Given the description of an element on the screen output the (x, y) to click on. 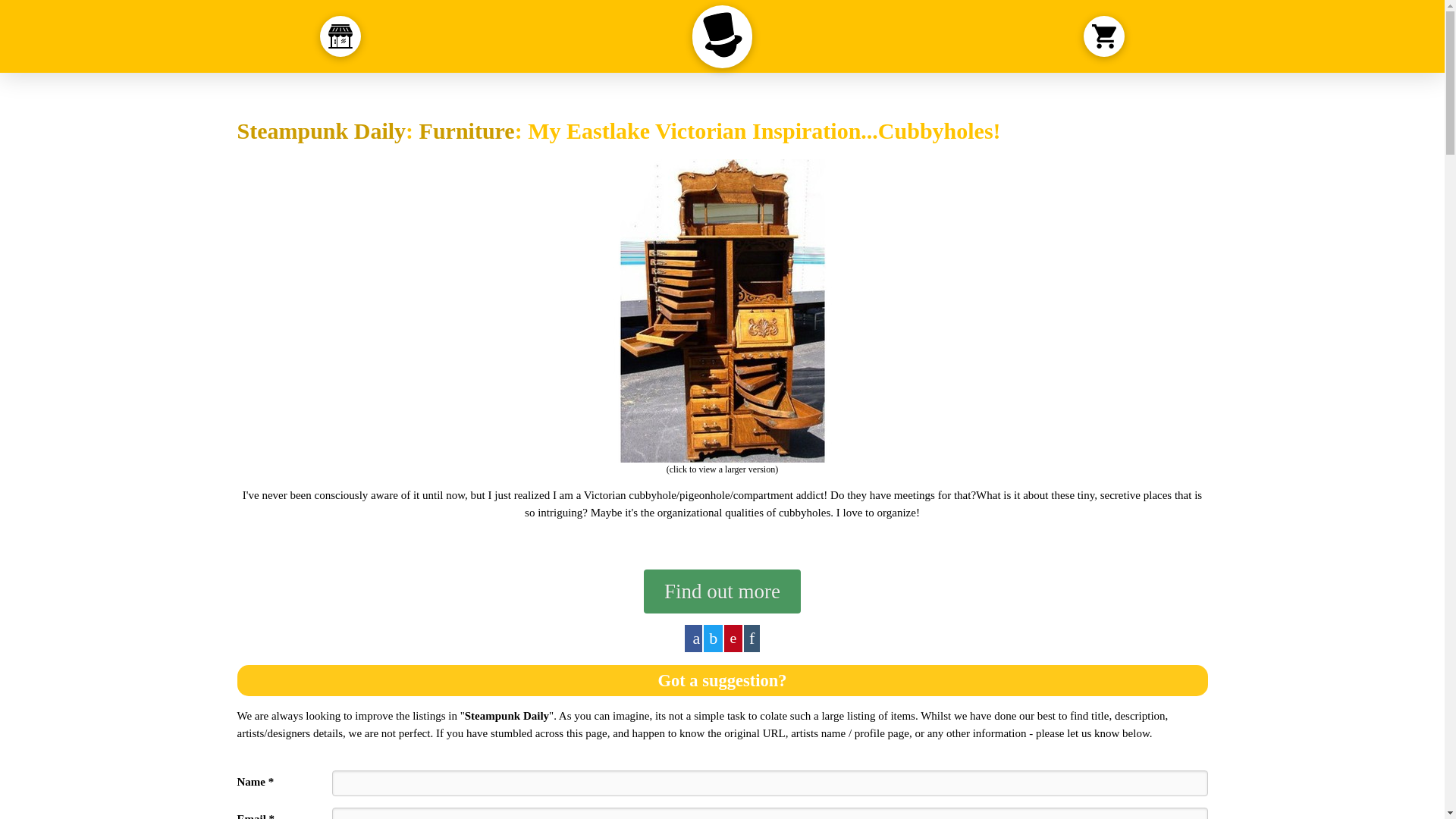
Steampunk Daily (320, 130)
Find out more (721, 591)
Furniture (467, 130)
